Given the description of an element on the screen output the (x, y) to click on. 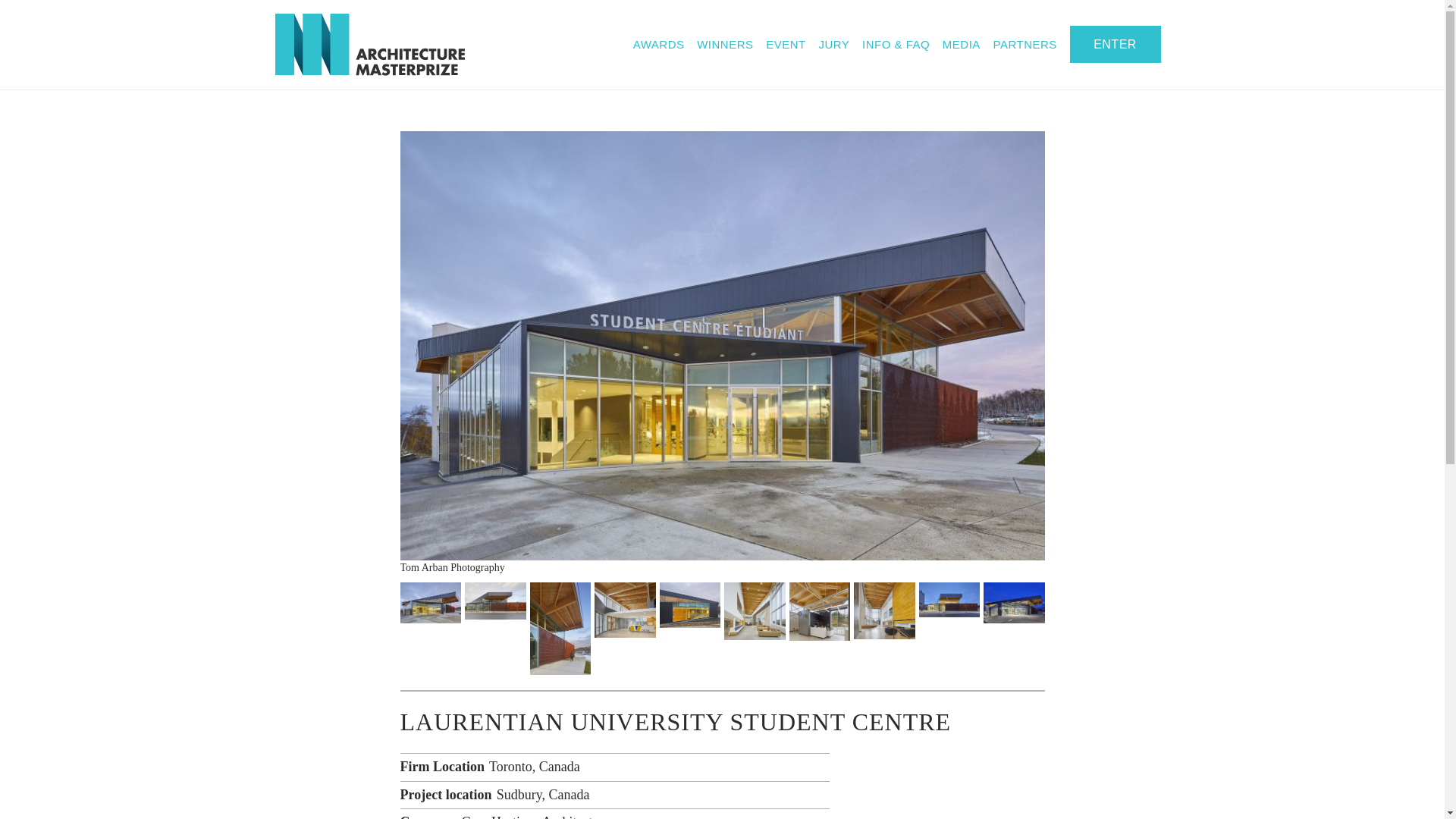
AWARDS (658, 44)
PARTNERS (1024, 44)
WINNERS (724, 44)
MEDIA (960, 44)
EVENT (785, 44)
ENTER (1114, 44)
JURY (833, 44)
